Given the description of an element on the screen output the (x, y) to click on. 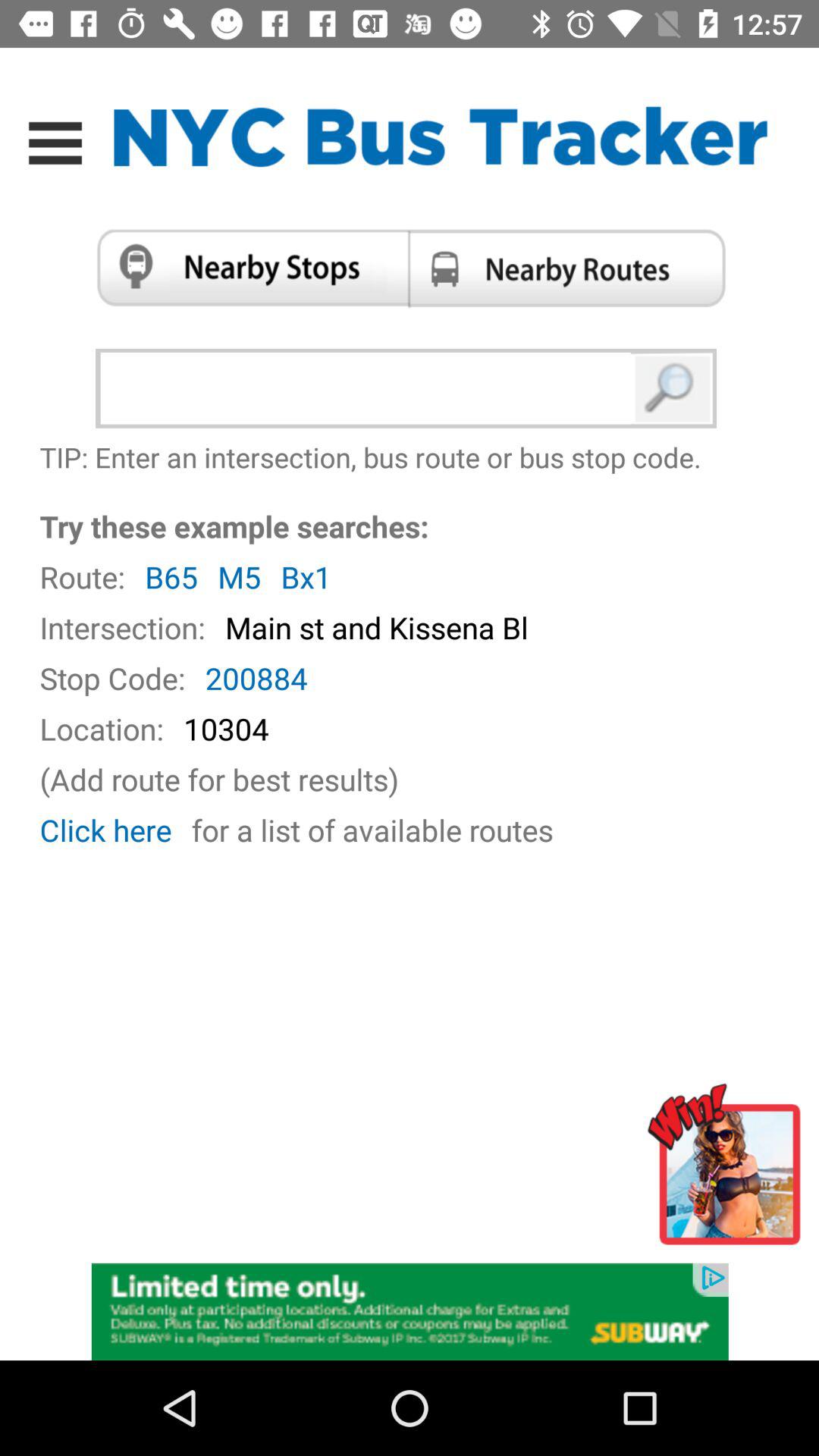
perform the search (673, 388)
